Given the description of an element on the screen output the (x, y) to click on. 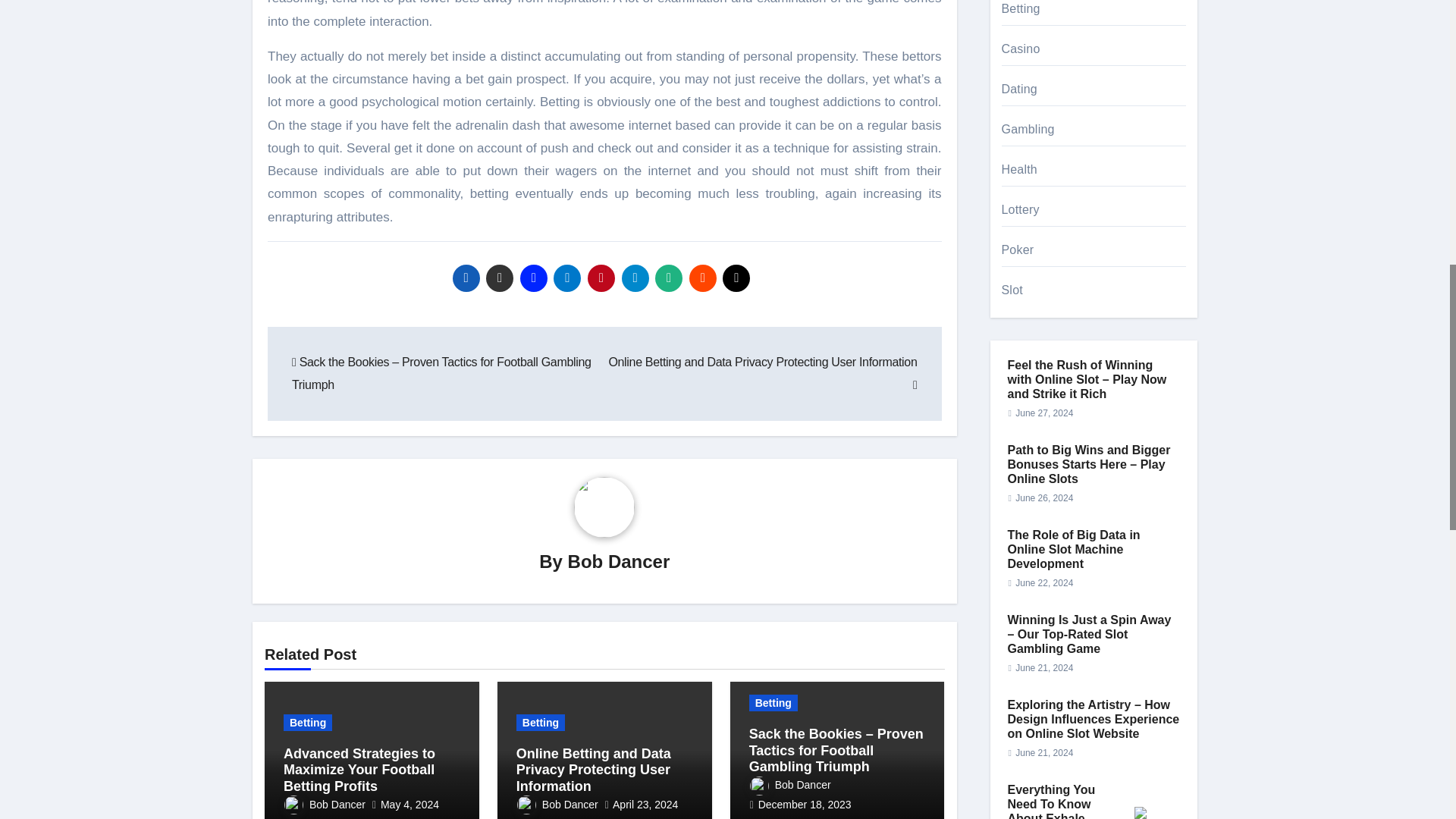
Bob Dancer (618, 561)
Betting (307, 722)
Online Betting and Data Privacy Protecting User Information (762, 373)
